Given the description of an element on the screen output the (x, y) to click on. 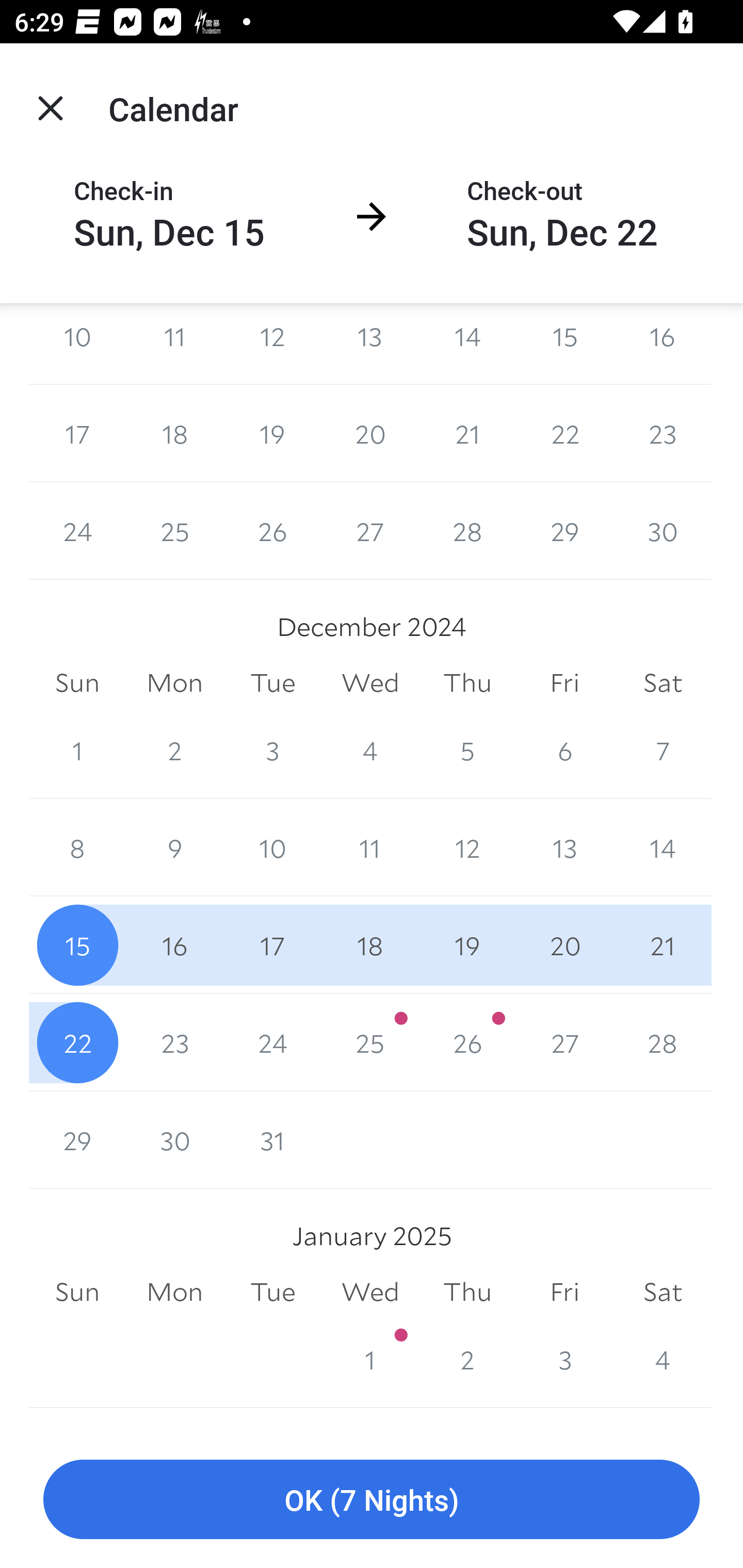
10 10 November 2024 (77, 343)
11 11 November 2024 (174, 343)
12 12 November 2024 (272, 343)
13 13 November 2024 (370, 343)
14 14 November 2024 (467, 343)
15 15 November 2024 (564, 343)
16 16 November 2024 (662, 343)
17 17 November 2024 (77, 433)
18 18 November 2024 (174, 433)
19 19 November 2024 (272, 433)
20 20 November 2024 (370, 433)
21 21 November 2024 (467, 433)
22 22 November 2024 (564, 433)
23 23 November 2024 (662, 433)
24 24 November 2024 (77, 531)
25 25 November 2024 (174, 531)
26 26 November 2024 (272, 531)
27 27 November 2024 (370, 531)
28 28 November 2024 (467, 531)
29 29 November 2024 (564, 531)
30 30 November 2024 (662, 531)
Sun (77, 682)
Mon (174, 682)
Tue (272, 682)
Wed (370, 682)
Thu (467, 682)
Fri (564, 682)
Sat (662, 682)
1 1 December 2024 (77, 749)
2 2 December 2024 (174, 749)
3 3 December 2024 (272, 749)
4 4 December 2024 (370, 749)
5 5 December 2024 (467, 749)
6 6 December 2024 (564, 749)
7 7 December 2024 (662, 749)
8 8 December 2024 (77, 847)
9 9 December 2024 (174, 847)
10 10 December 2024 (272, 847)
11 11 December 2024 (370, 847)
12 12 December 2024 (467, 847)
13 13 December 2024 (564, 847)
14 14 December 2024 (662, 847)
15 15 December 2024 (77, 945)
16 16 December 2024 (174, 945)
17 17 December 2024 (272, 945)
18 18 December 2024 (370, 945)
19 19 December 2024 (467, 945)
20 20 December 2024 (564, 945)
21 21 December 2024 (662, 945)
